Given the description of an element on the screen output the (x, y) to click on. 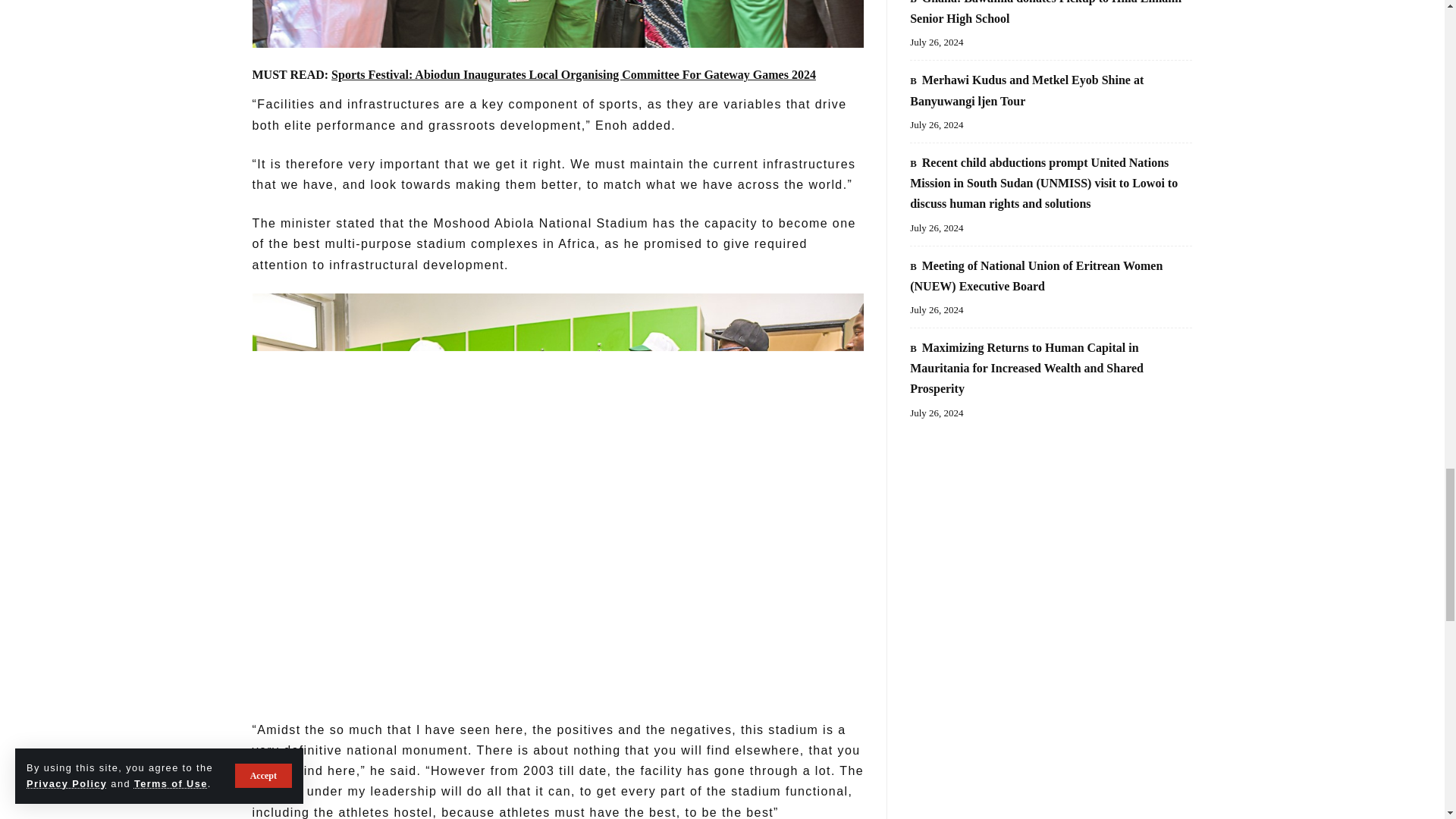
WhatsApp Image 2023 08 23 at 3.08.52 PM (557, 23)
